Given the description of an element on the screen output the (x, y) to click on. 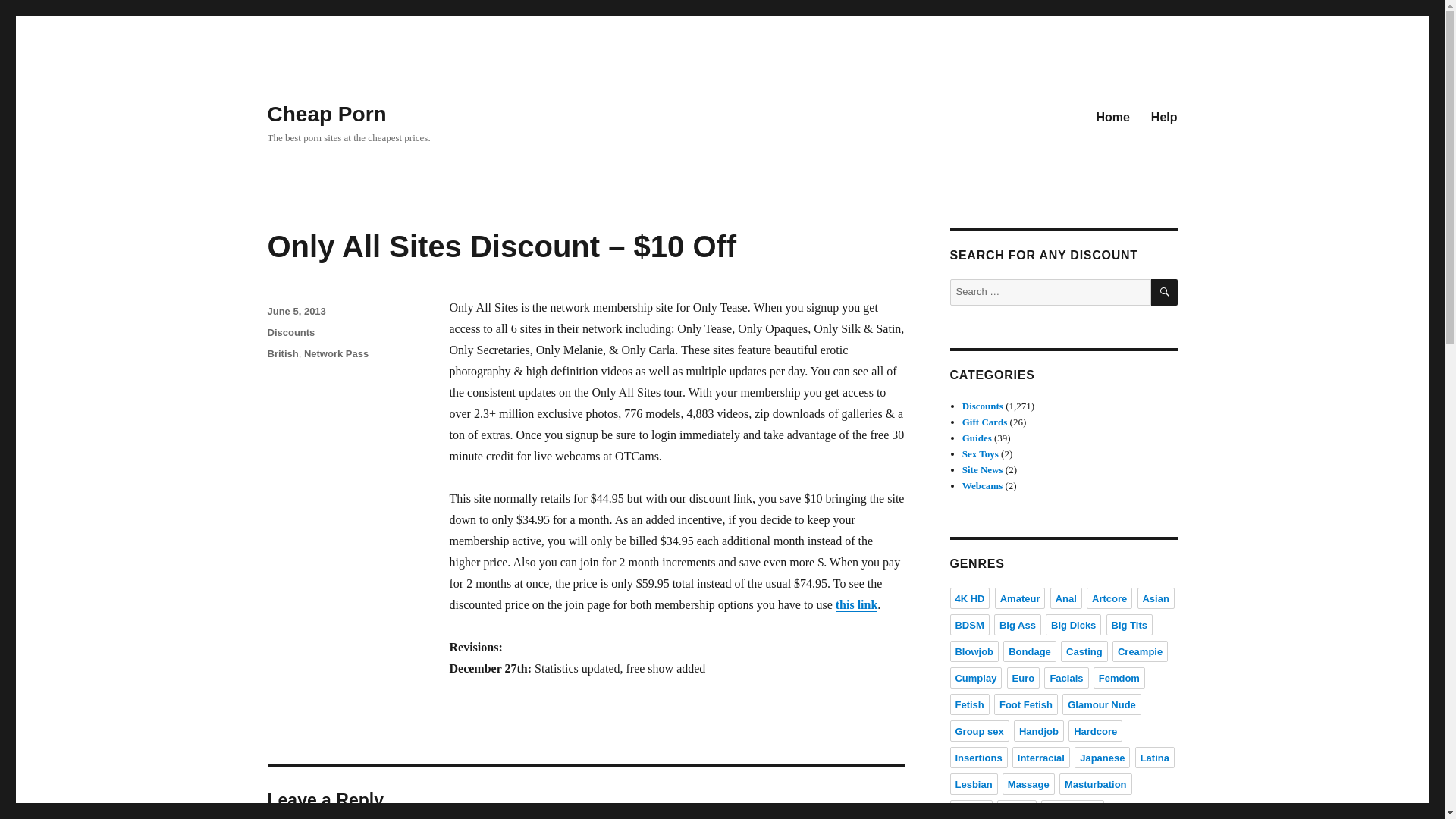
Big Ass (1017, 624)
SEARCH (1164, 292)
Creampie (1139, 650)
June 5, 2013 (295, 310)
Gift Cards (984, 421)
Home (1112, 116)
Big Tits (1129, 624)
this link (856, 604)
Asian (1155, 598)
Bondage (1030, 650)
Site News (982, 469)
Network Pass (336, 353)
Cheap Porn (325, 114)
BDSM (968, 624)
Euro (1024, 677)
